Given the description of an element on the screen output the (x, y) to click on. 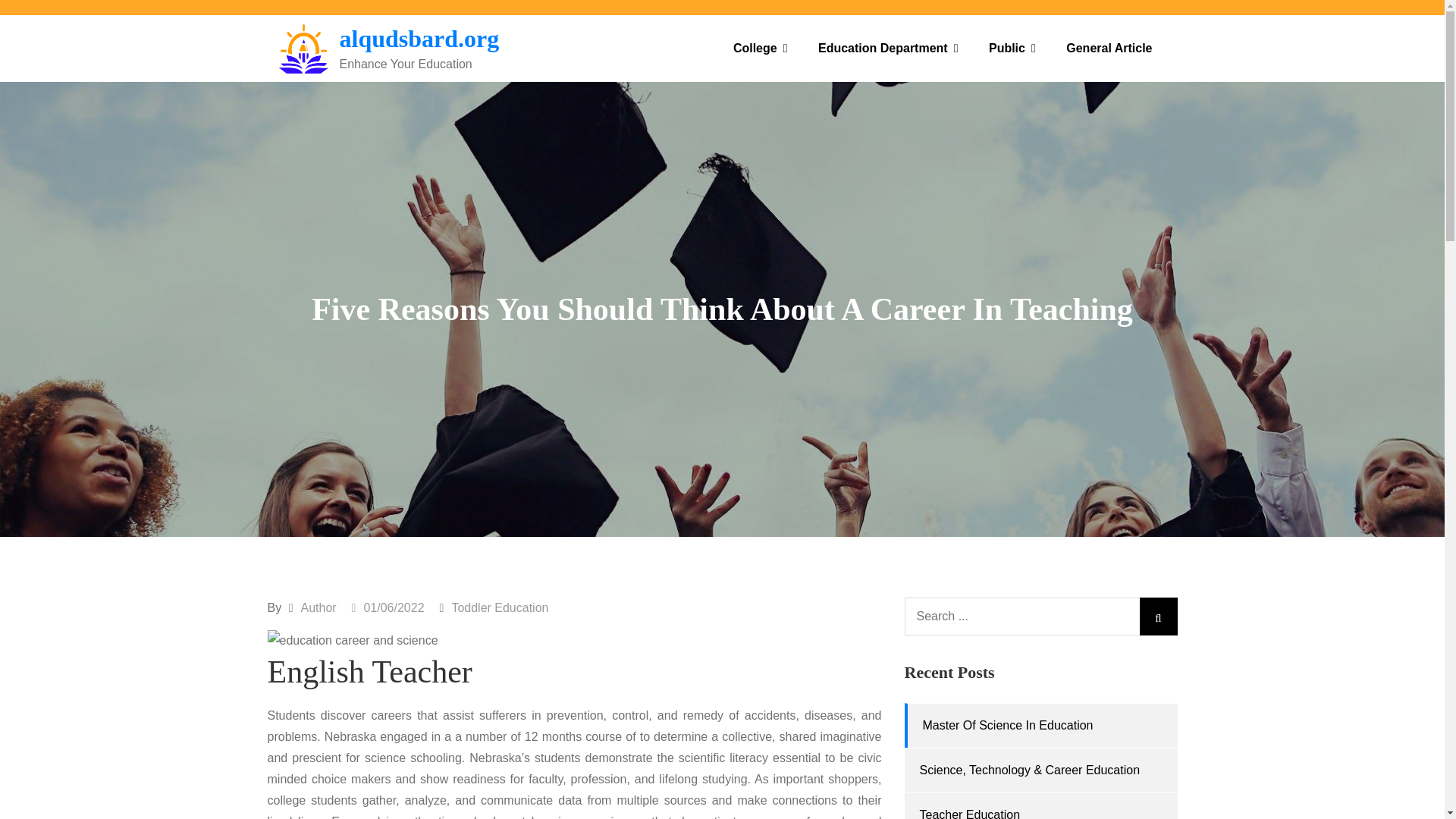
Public (1012, 48)
Search for: (1040, 616)
Author (317, 607)
alqudsbard.org (419, 38)
Toddler Education (499, 607)
College (760, 48)
General Article (1109, 48)
Education Department (888, 48)
